Given the description of an element on the screen output the (x, y) to click on. 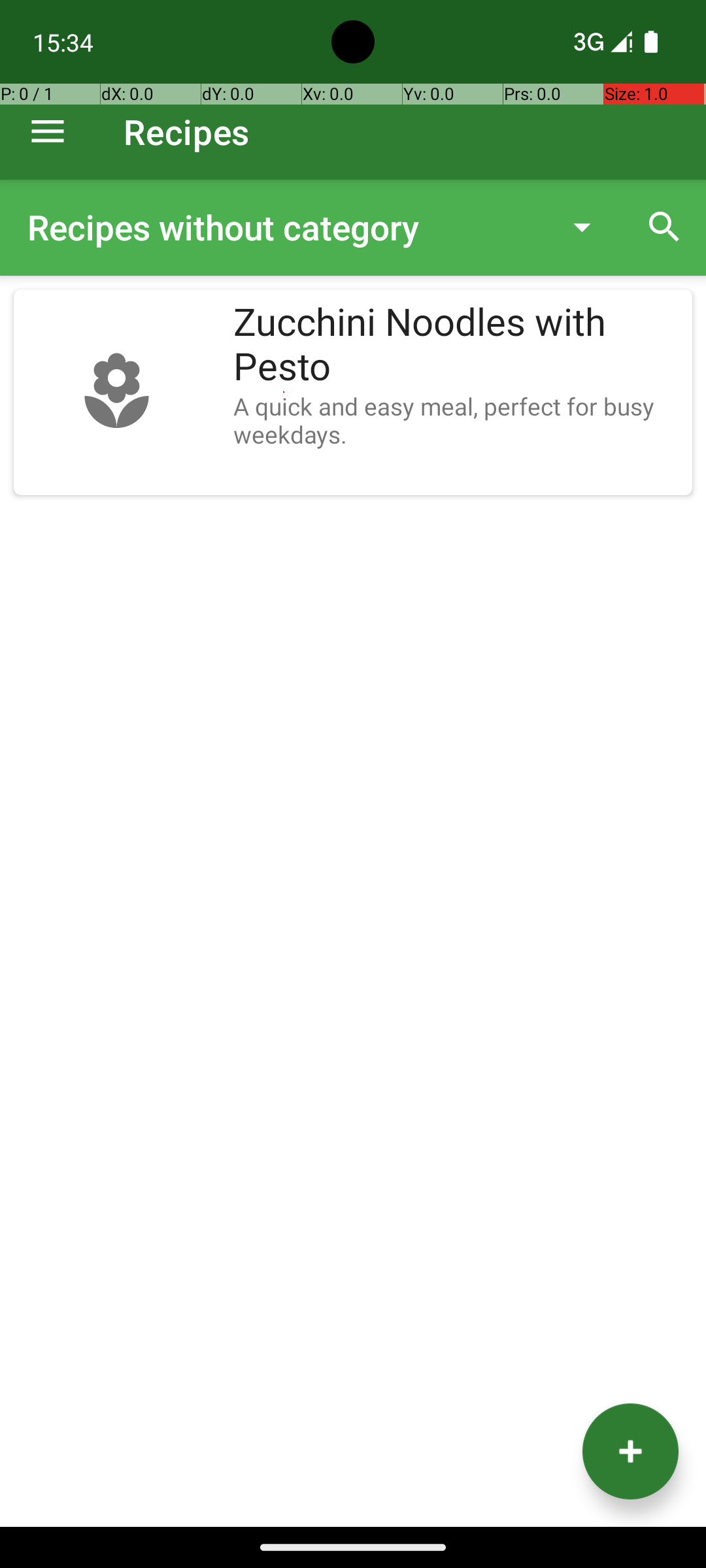
Zucchini Noodles with Pesto Element type: android.widget.TextView (455, 344)
